Given the description of an element on the screen output the (x, y) to click on. 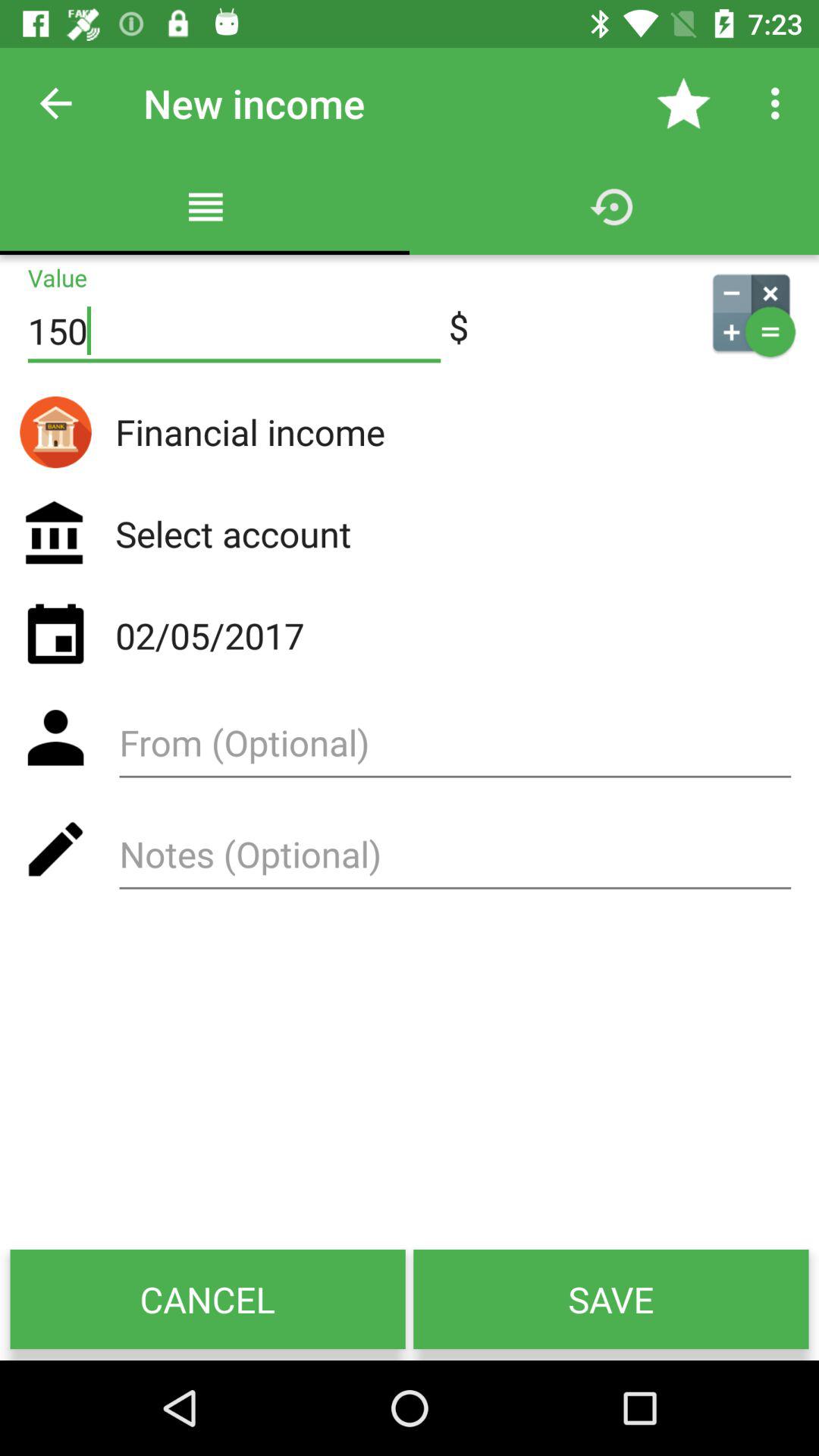
hits option (455, 859)
